Given the description of an element on the screen output the (x, y) to click on. 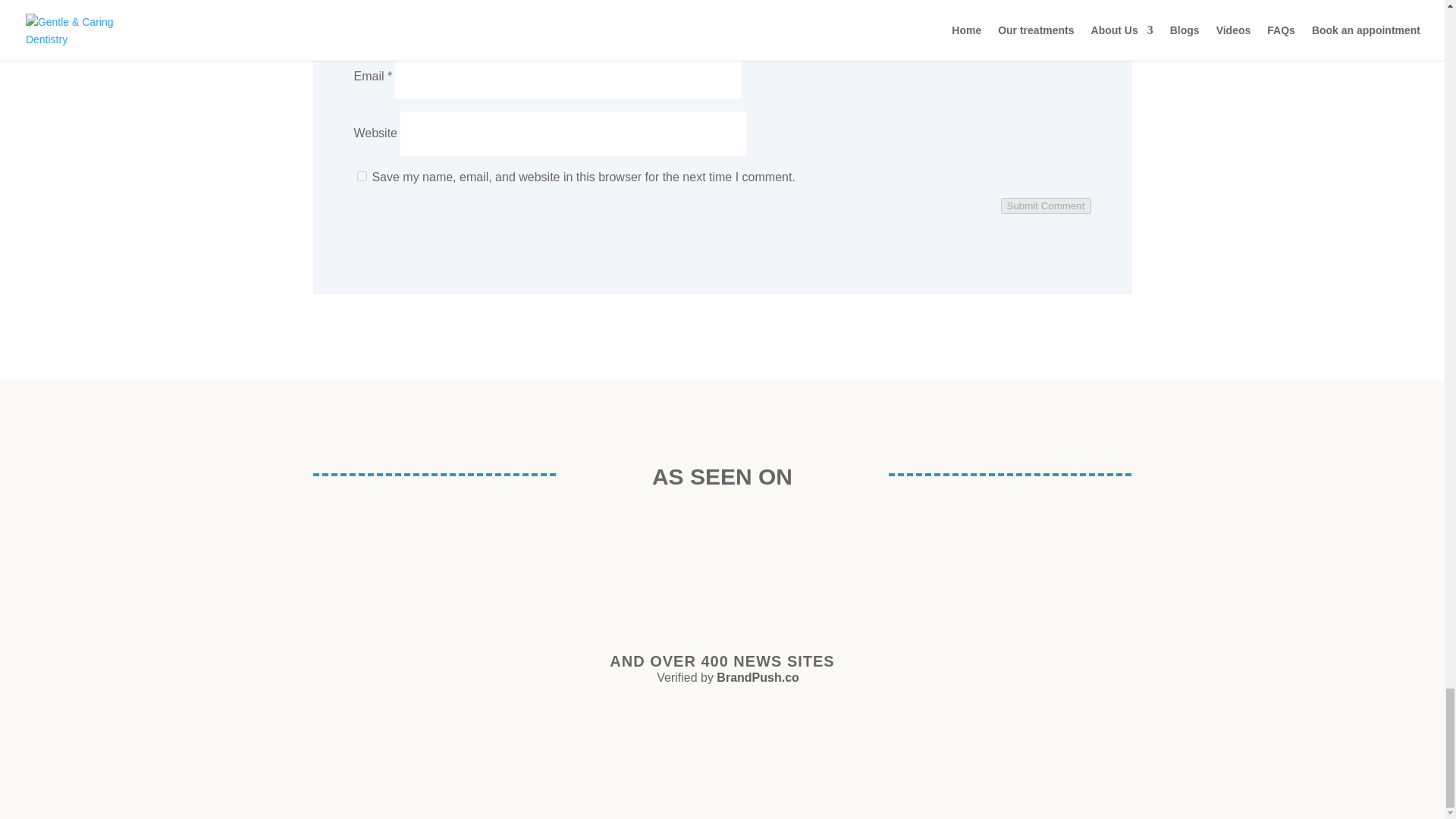
ncn (715, 561)
BrandPush.co (756, 676)
fox (548, 553)
minyan (1067, 582)
Submit Comment (1045, 205)
mastercard (907, 767)
yes (361, 175)
visa (1174, 767)
ada (387, 767)
eftpos (654, 767)
hicaps (141, 767)
benzinga (894, 576)
